Given the description of an element on the screen output the (x, y) to click on. 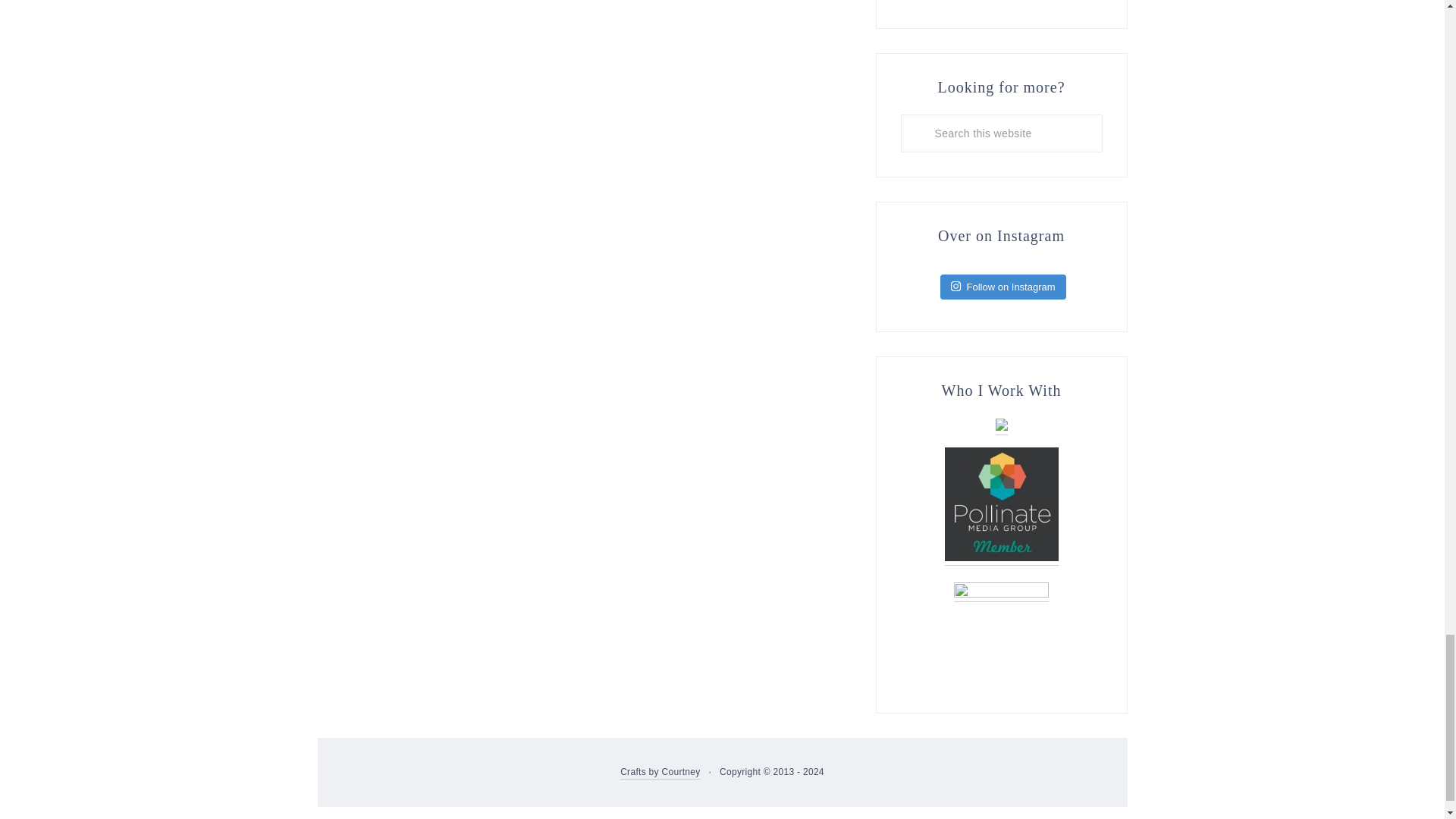
How-to Crafts and DIY Parties (660, 772)
